Given the description of an element on the screen output the (x, y) to click on. 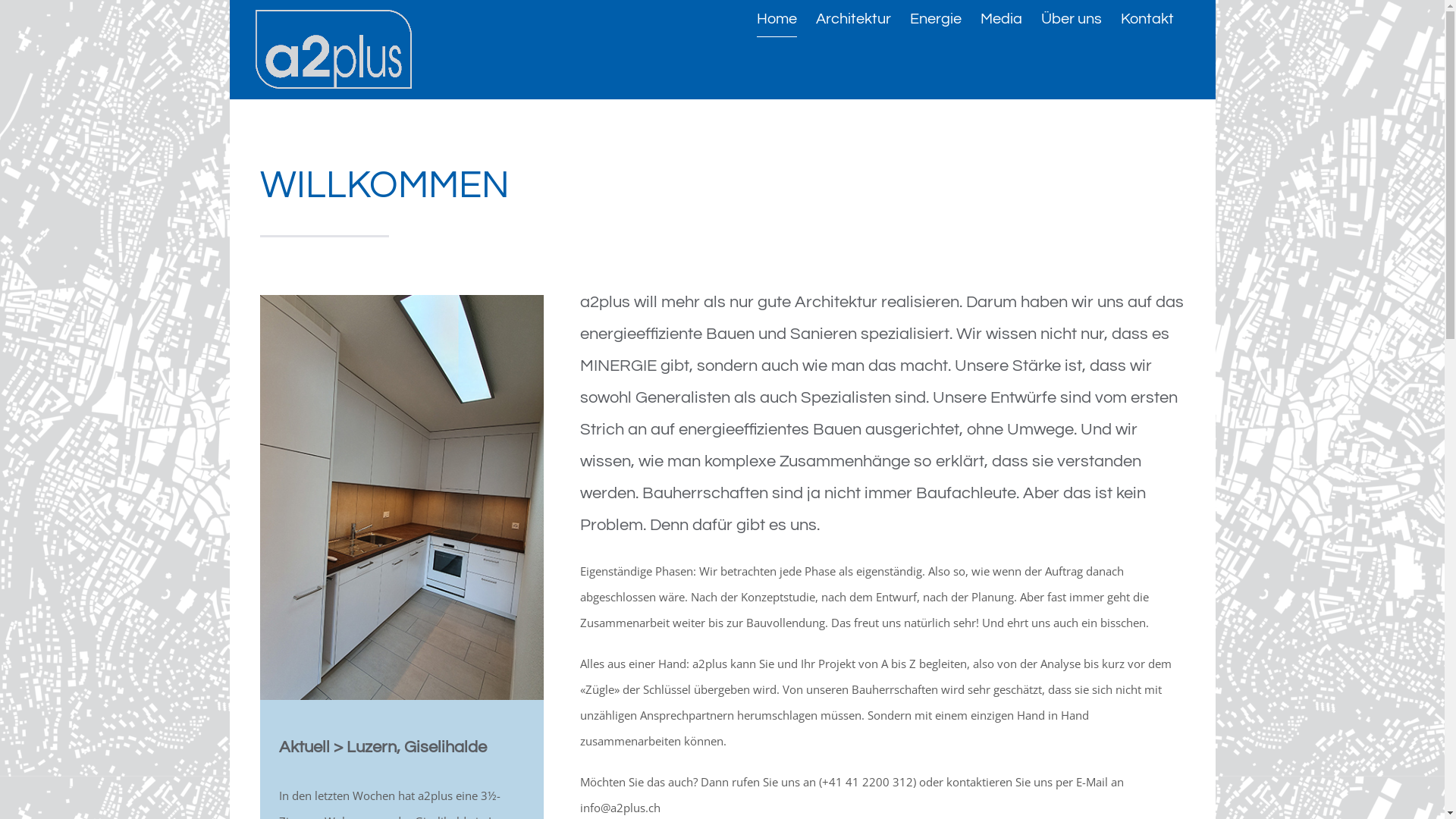
Energie Element type: text (935, 18)
Media Element type: text (1000, 18)
Home Element type: text (776, 18)
Kontakt Element type: text (1146, 18)
Architektur Element type: text (853, 18)
20230831_173657r Element type: hover (400, 299)
